Given the description of an element on the screen output the (x, y) to click on. 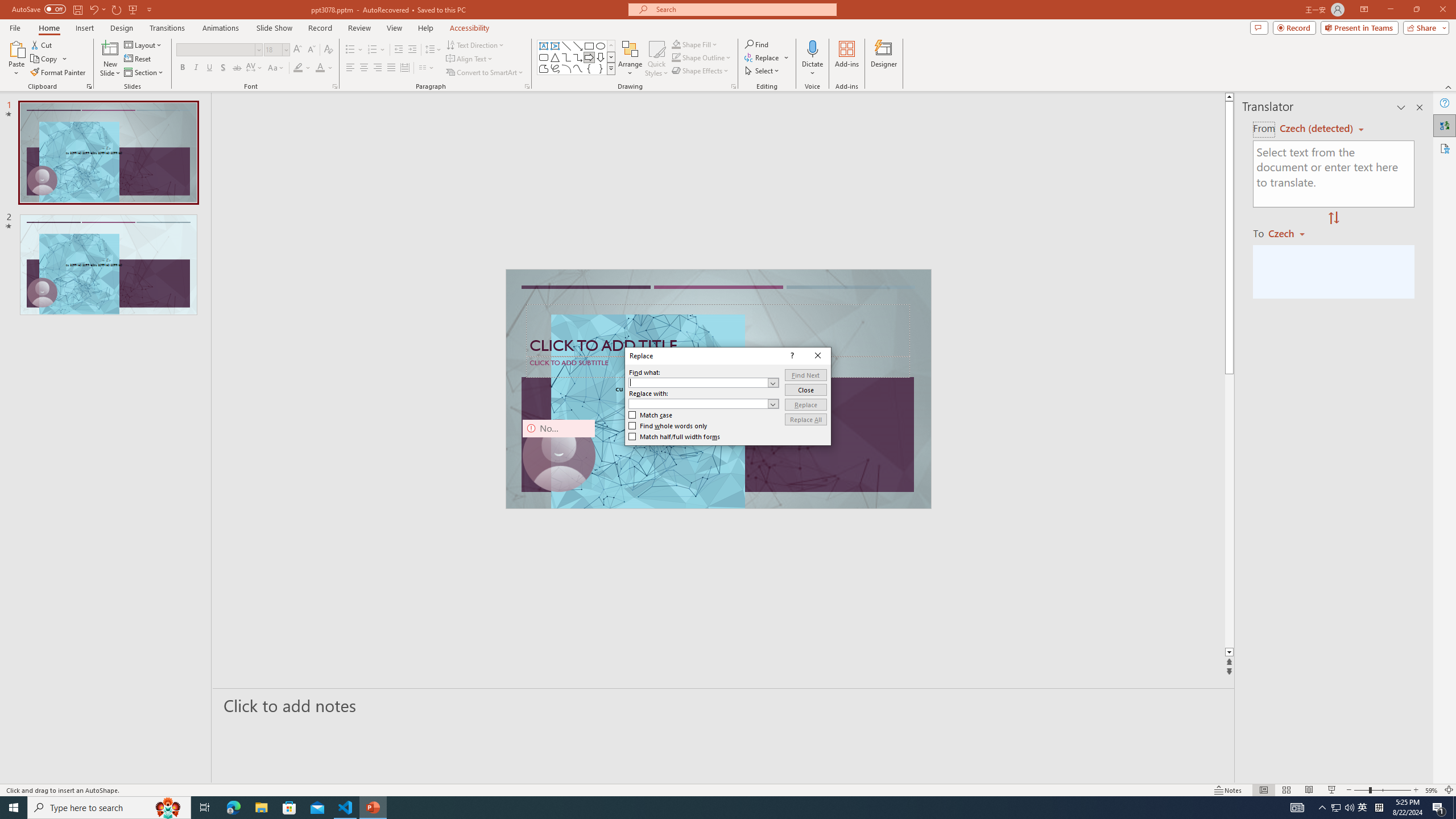
Underline (209, 67)
Left Brace (589, 68)
Center (363, 67)
Arrow: Right (589, 57)
Swap "from" and "to" languages. (1333, 218)
Action Center, 1 new notification (1439, 807)
Cut (42, 44)
Format Object... (733, 85)
Microsoft Edge (233, 807)
